Given the description of an element on the screen output the (x, y) to click on. 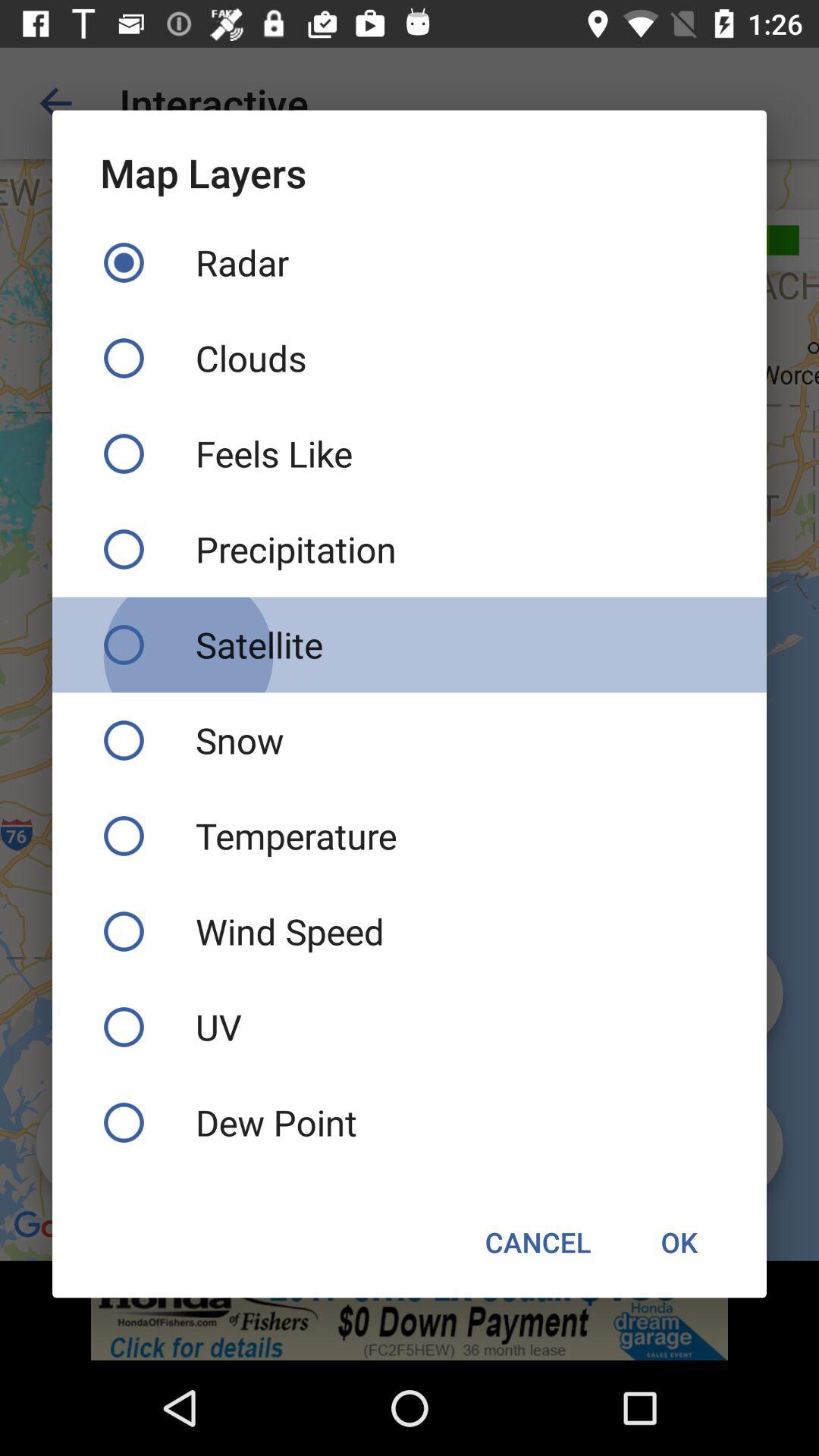
select the icon next to cancel icon (678, 1241)
